Given the description of an element on the screen output the (x, y) to click on. 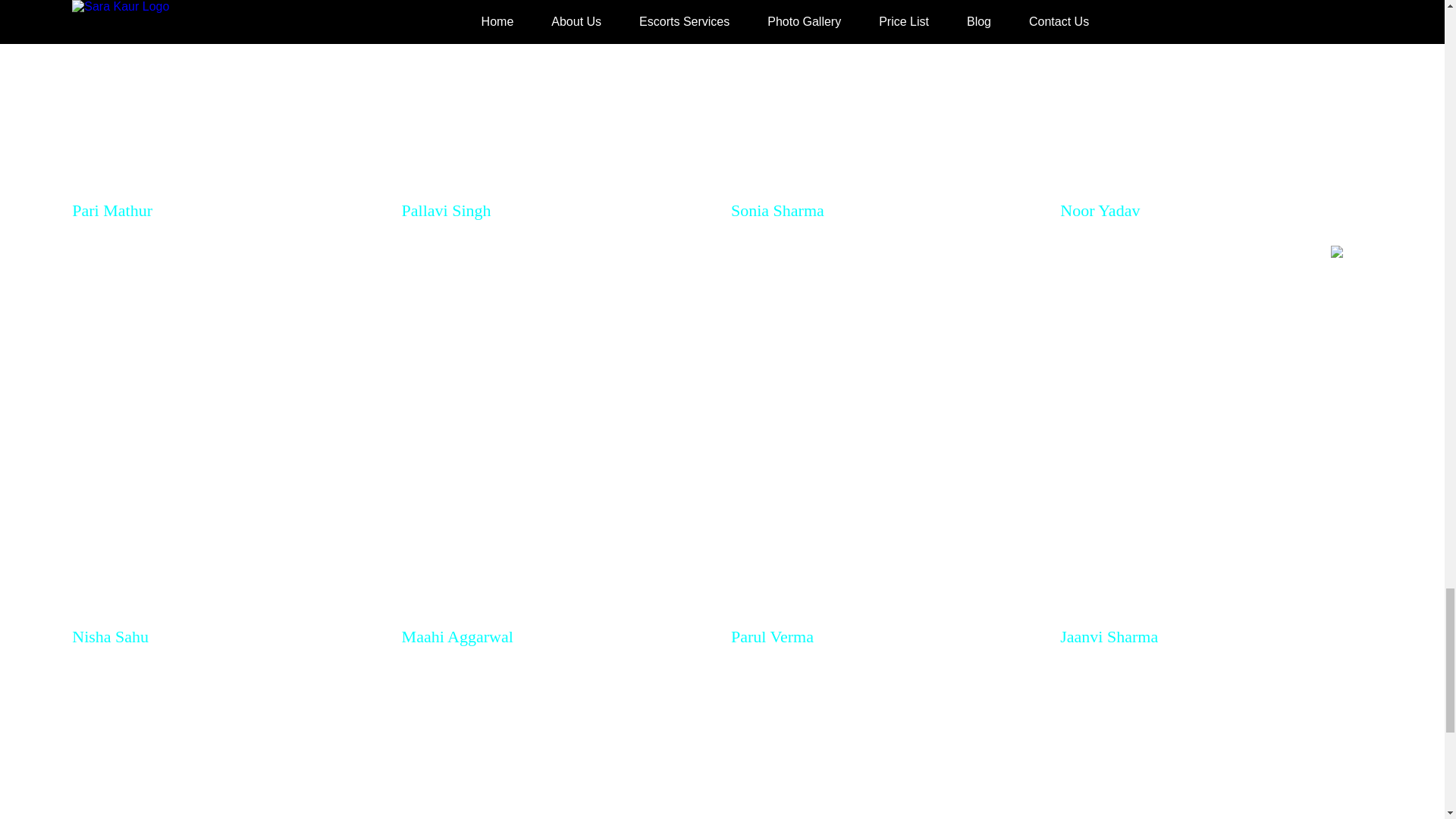
Pari Mathur Escort Girl (227, 98)
Jaanvi Sharma Escort Girl (1215, 429)
Parul Verma Escort Girl (886, 429)
Noor Yadav Escort Girl (1215, 98)
Moni Sahu Escort Girl (227, 740)
Soni Singh Escort Girl (557, 740)
Maahi Aggarwal Escort Girl (557, 429)
Pallavi Singh Escort Girl (557, 98)
Nisha Sahu Escort Girl (227, 429)
Sonia Sharma Escort Girl (886, 98)
